Given the description of an element on the screen output the (x, y) to click on. 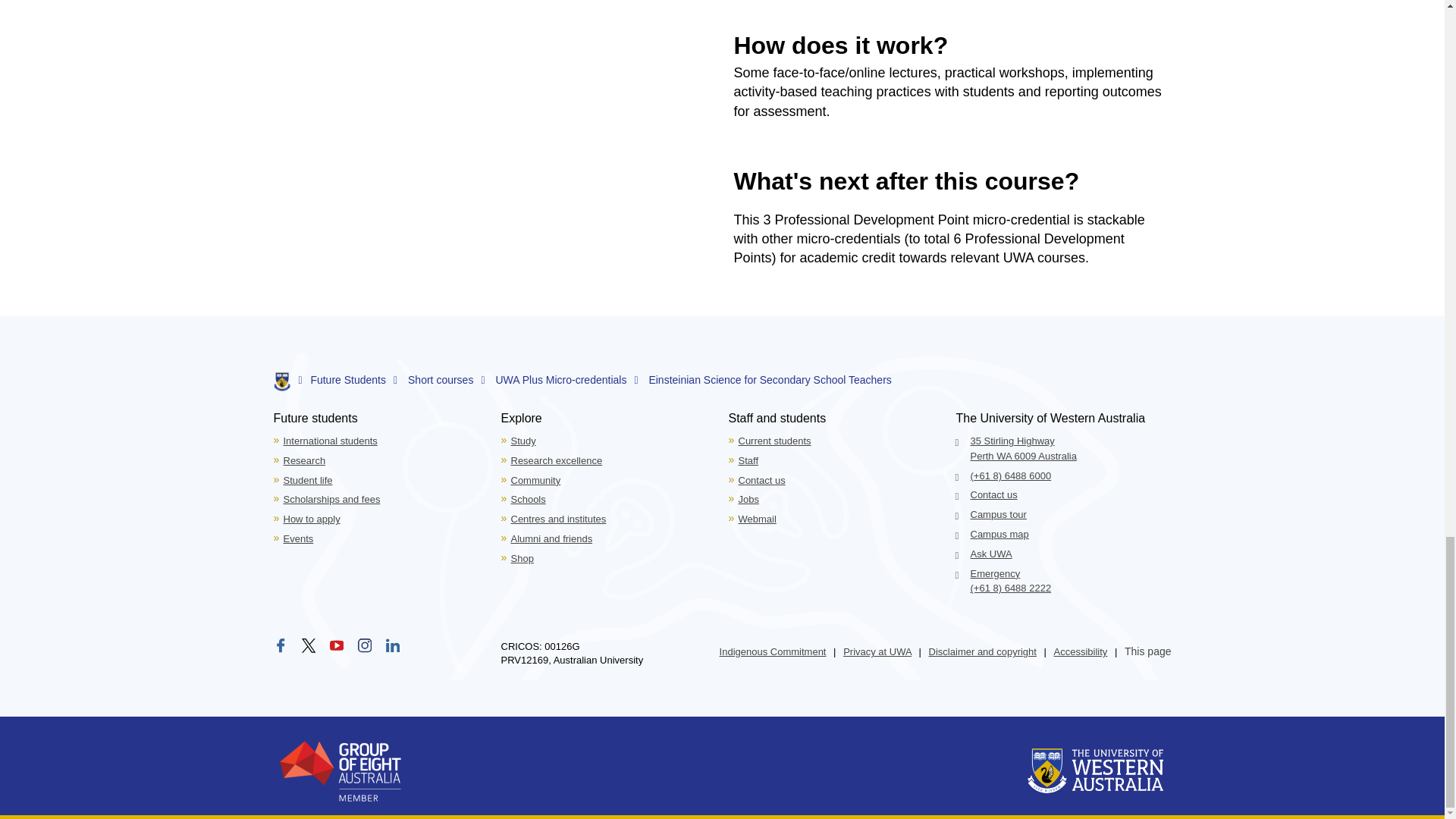
youtube (336, 645)
UWA Plus Micro-credentials (566, 379)
How to apply (311, 518)
Scholarships and fees (331, 499)
facebook (279, 645)
Study (523, 440)
Future Students (353, 379)
Short courses (445, 379)
Student life (308, 480)
Events (298, 538)
Alumni and friends (551, 538)
Community (535, 480)
Research (304, 460)
X (311, 647)
Research excellence (556, 460)
